Given the description of an element on the screen output the (x, y) to click on. 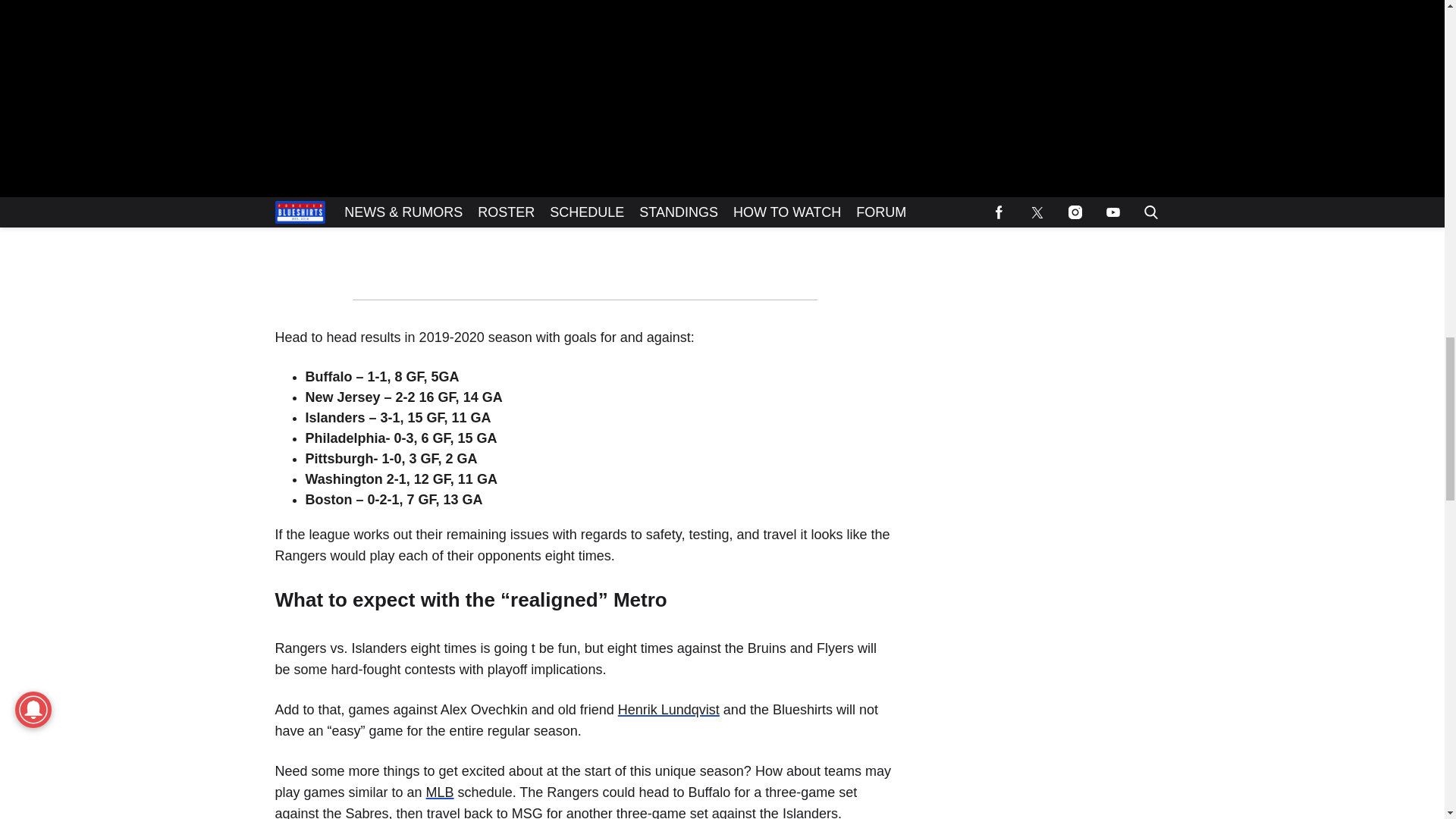
Henrik Lundqvist (668, 709)
MLB (440, 792)
